Given the description of an element on the screen output the (x, y) to click on. 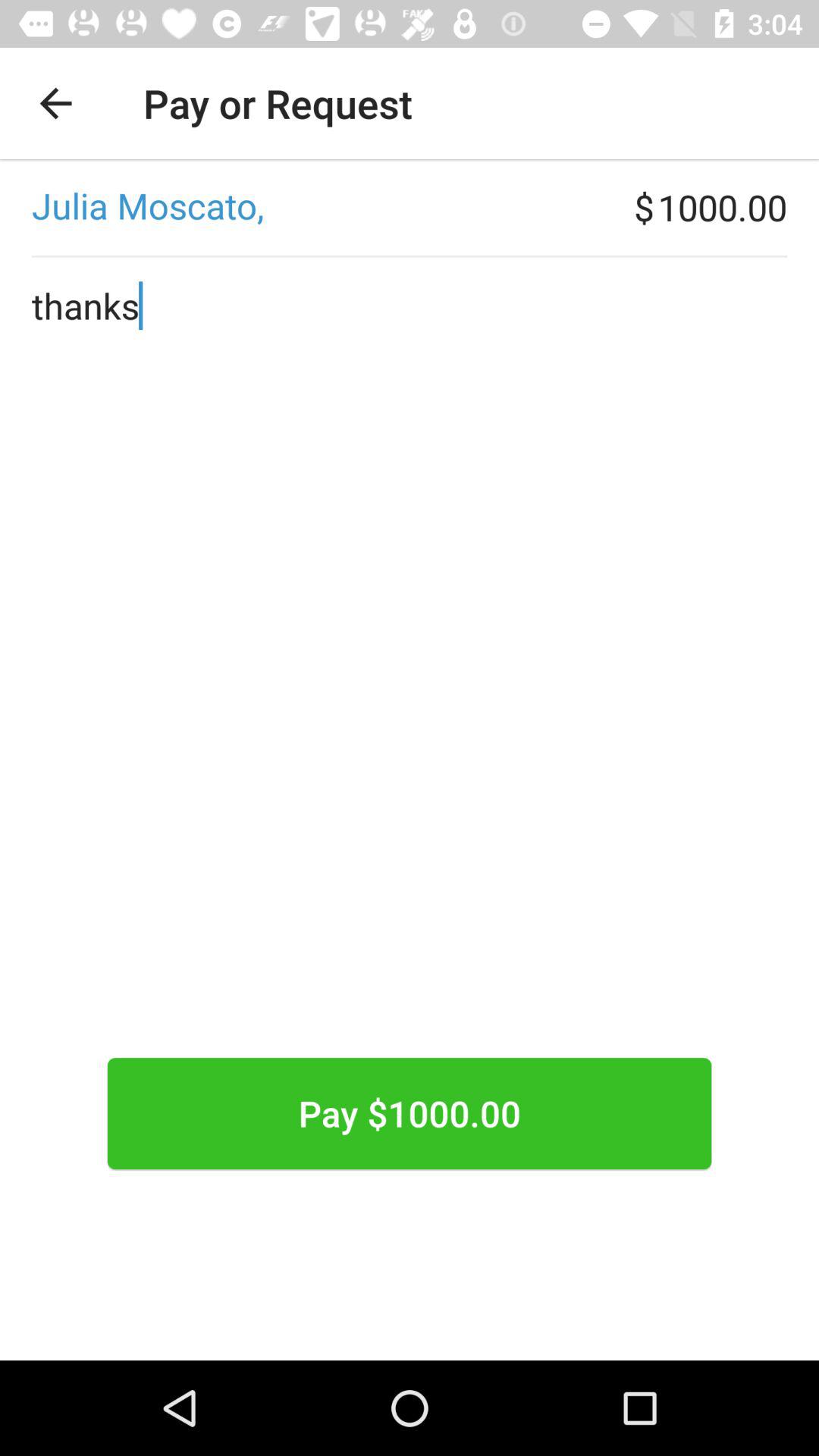
flip until thanks item (409, 705)
